Given the description of an element on the screen output the (x, y) to click on. 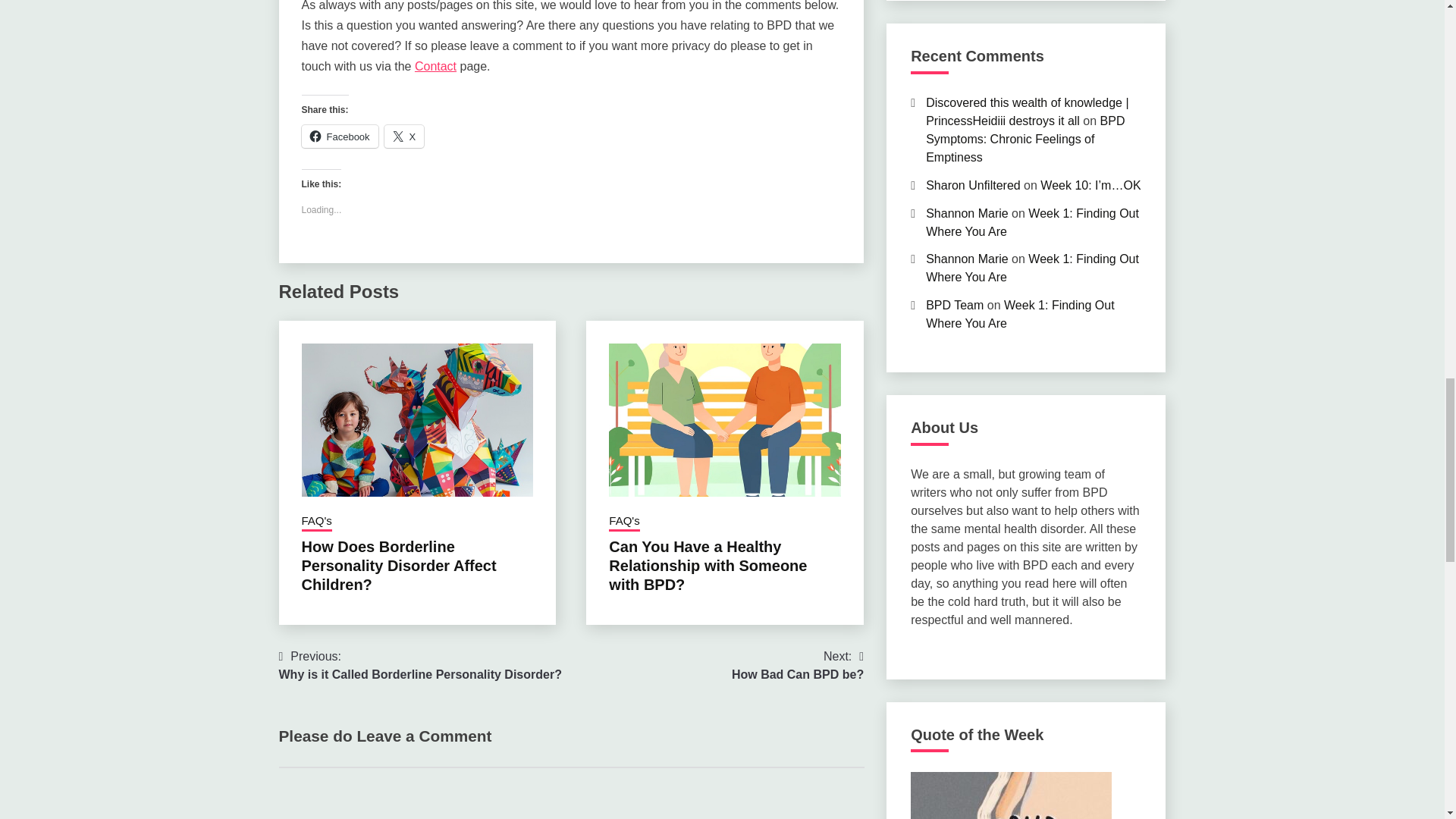
Click to share on X (404, 136)
Contact (435, 65)
Can You Have a Healthy Relationship with Someone with BPD? (707, 565)
How Does Borderline Personality Disorder Affect Children? (398, 565)
X (404, 136)
FAQ's (623, 522)
FAQ's (316, 522)
Click to share on Facebook (339, 136)
Facebook (339, 136)
